Given the description of an element on the screen output the (x, y) to click on. 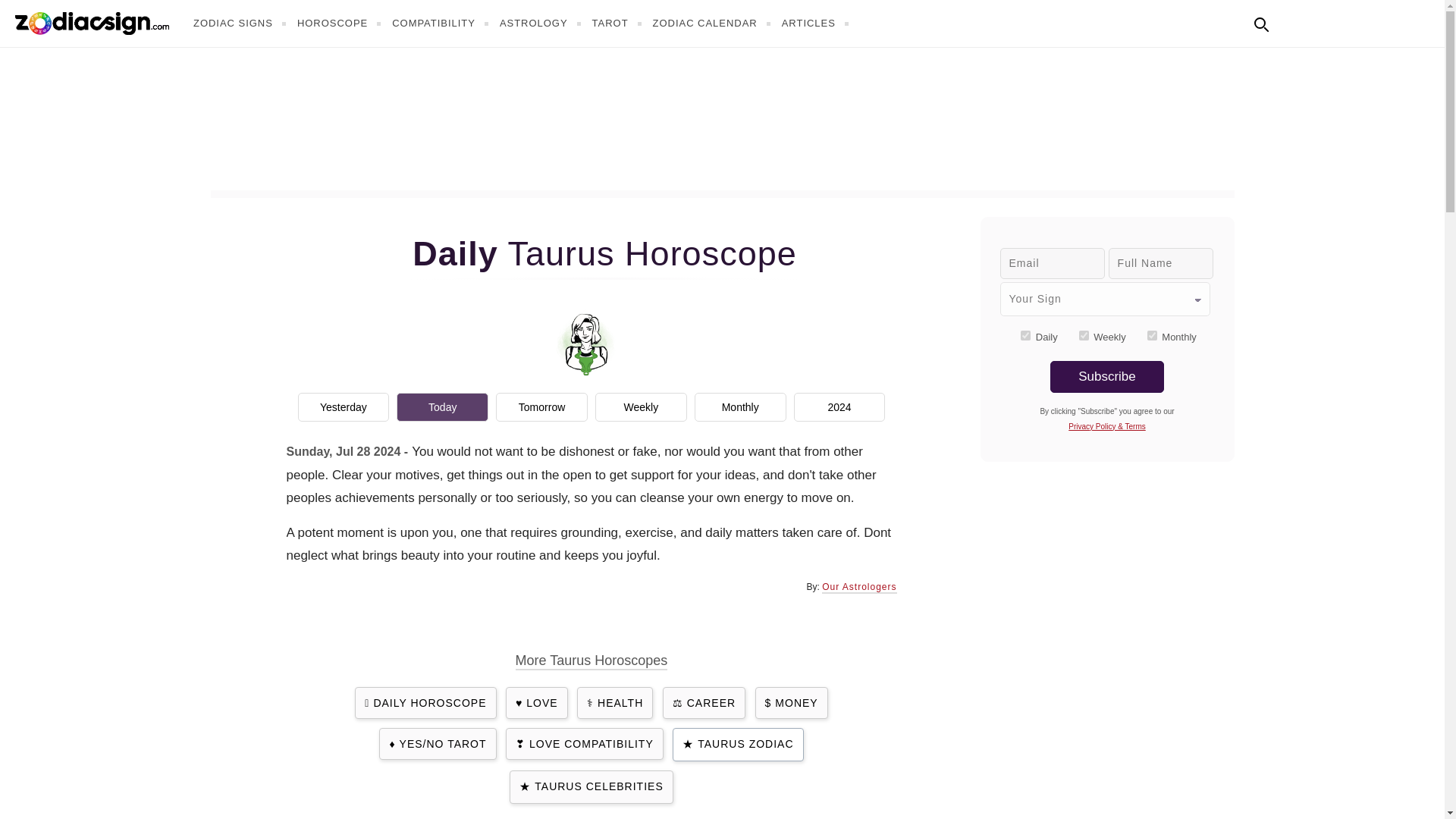
monthly (1152, 335)
In English (1294, 21)
HOROSCOPE (341, 23)
ZODIAC SIGNS (241, 23)
daily (1025, 335)
weekly (1083, 335)
